Given the description of an element on the screen output the (x, y) to click on. 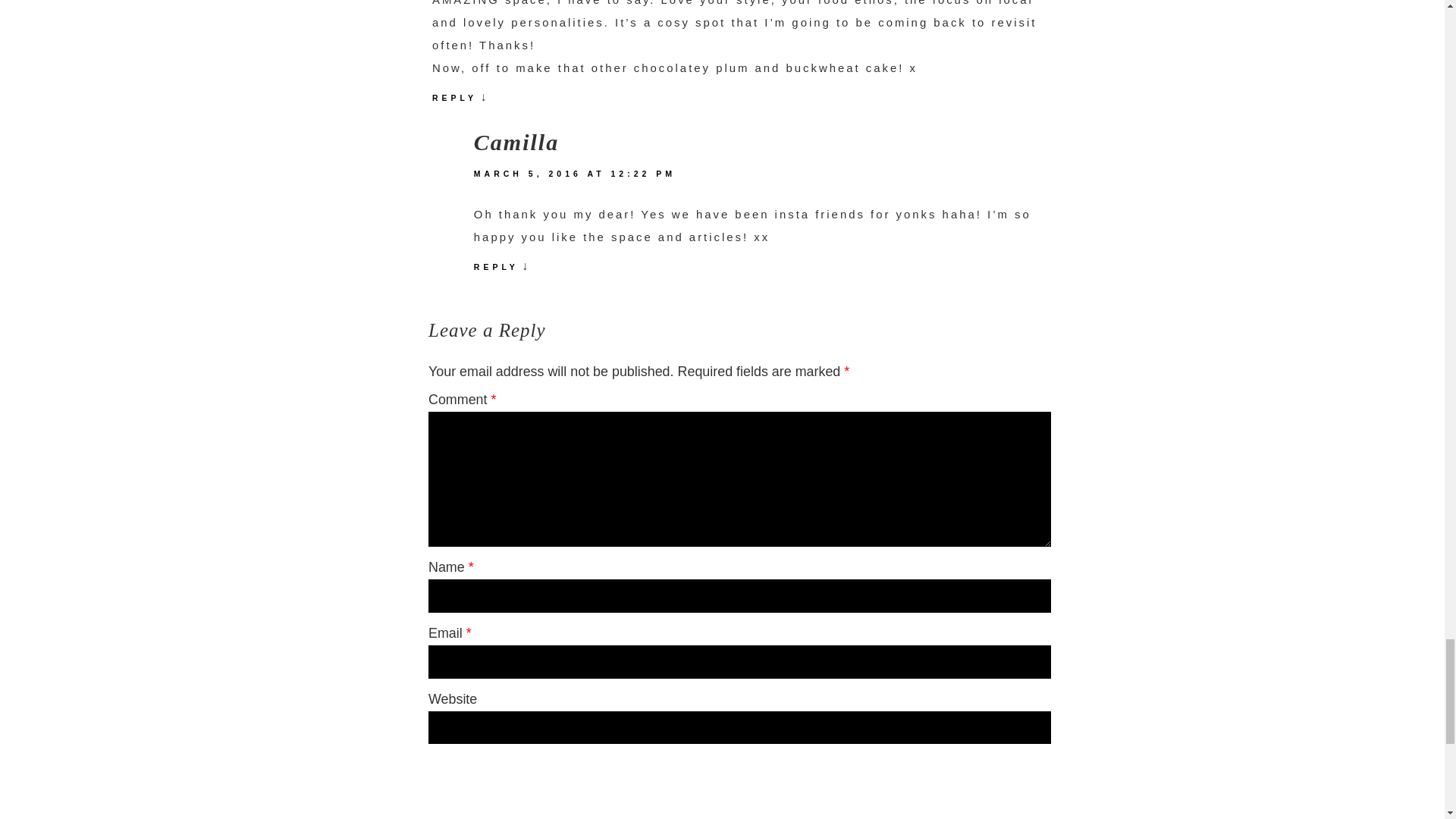
REPLY (454, 103)
Post Comment (739, 766)
MARCH 5, 2016 AT 12:22 PM (572, 179)
